Given the description of an element on the screen output the (x, y) to click on. 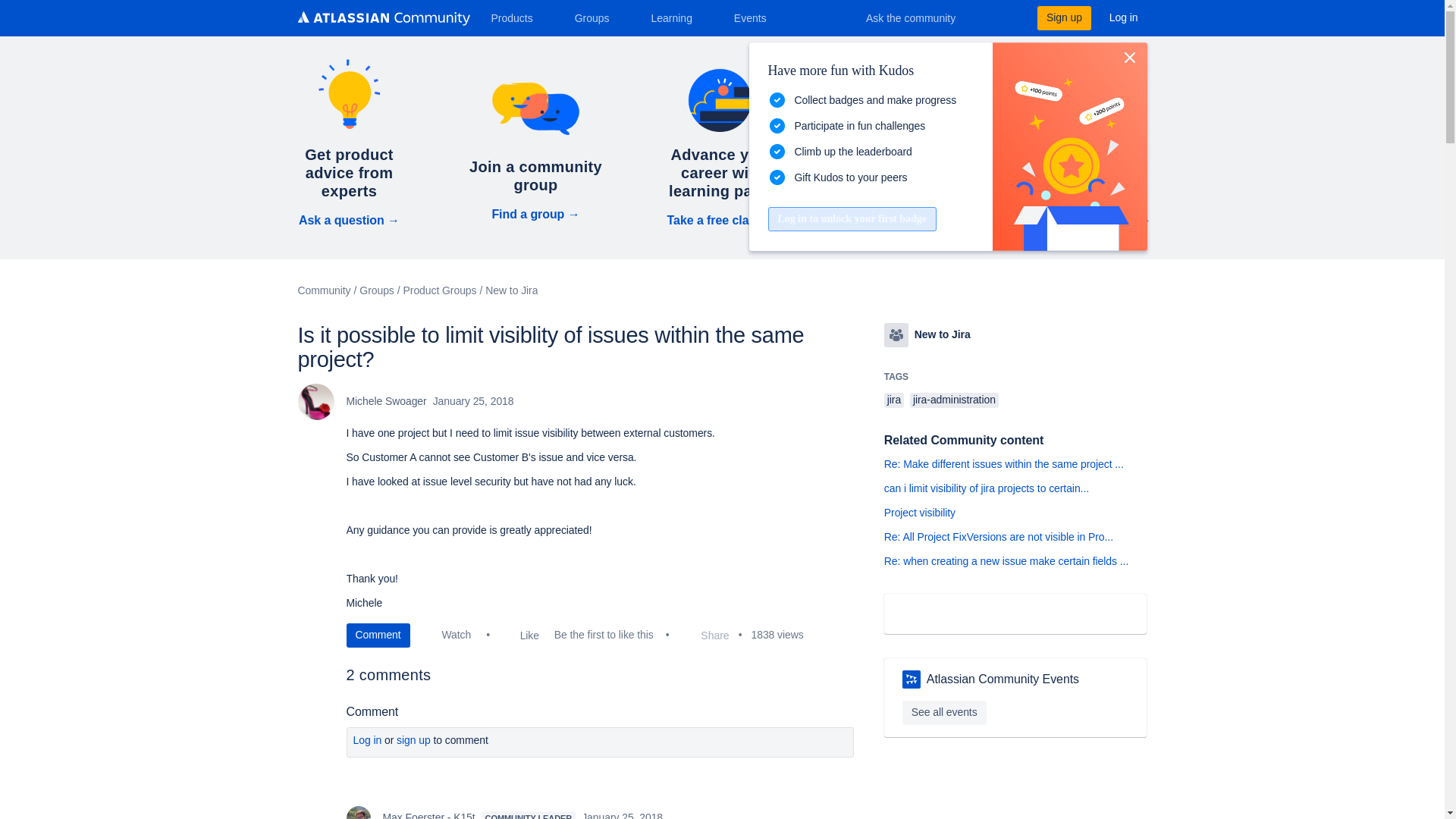
Groups (598, 17)
Products (517, 17)
AUG Leaders (911, 679)
Learning (676, 17)
Michele Swoager (315, 402)
Log in (1123, 17)
Atlassian Community logo (382, 19)
Atlassian Community logo (382, 18)
groups-icon (895, 334)
Ask the community  (921, 17)
